Given the description of an element on the screen output the (x, y) to click on. 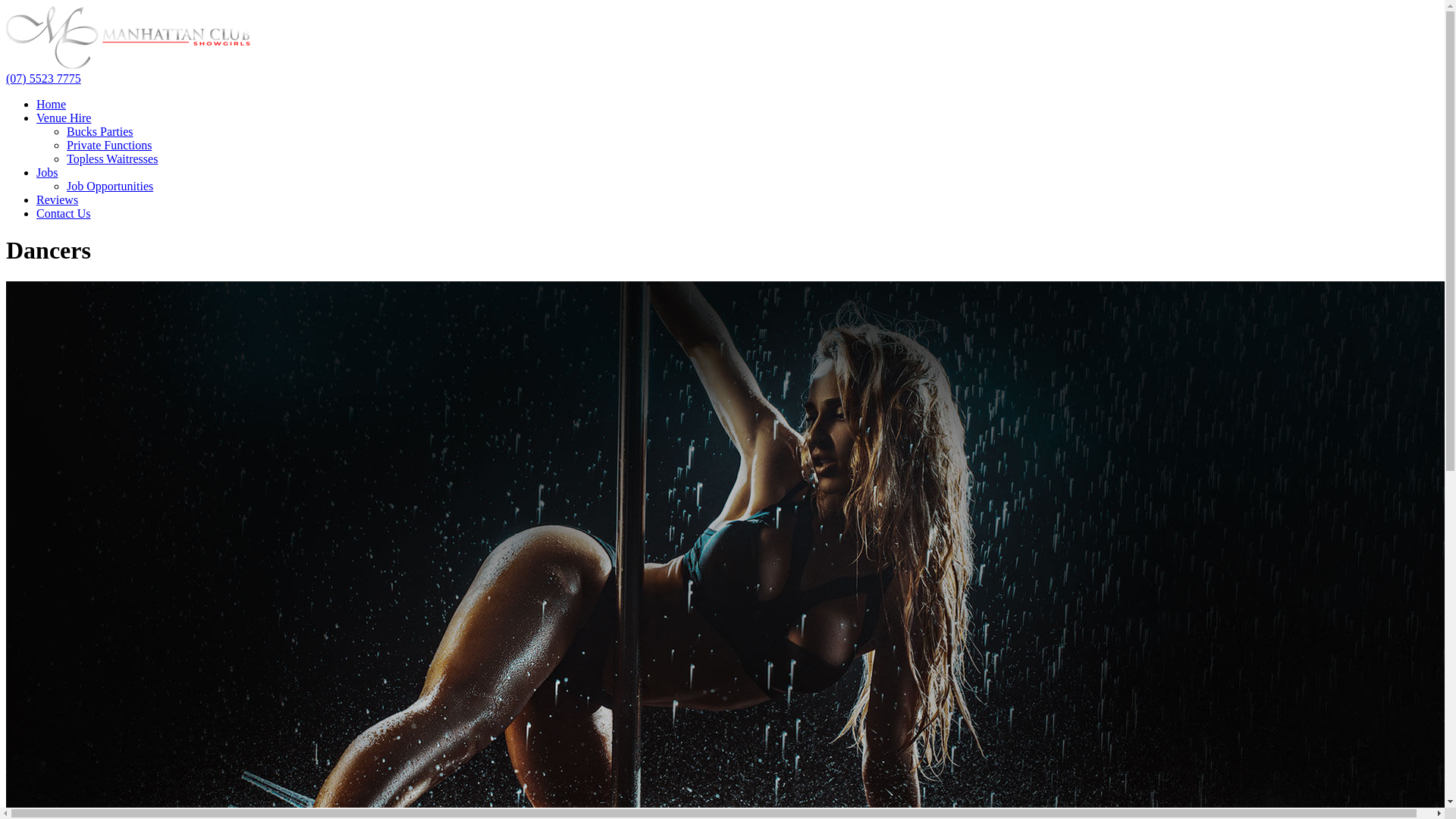
Job Opportunities Element type: text (109, 185)
Reviews Element type: text (57, 199)
Contact Us Element type: text (63, 213)
Home Element type: text (50, 103)
Jobs Element type: text (46, 172)
logo_v2 Element type: hover (128, 37)
Bucks Parties Element type: text (99, 131)
Venue Hire Element type: text (63, 117)
Topless Waitresses Element type: text (111, 158)
(07) 5523 7775 Element type: text (43, 78)
Private Functions Element type: text (108, 144)
